Given the description of an element on the screen output the (x, y) to click on. 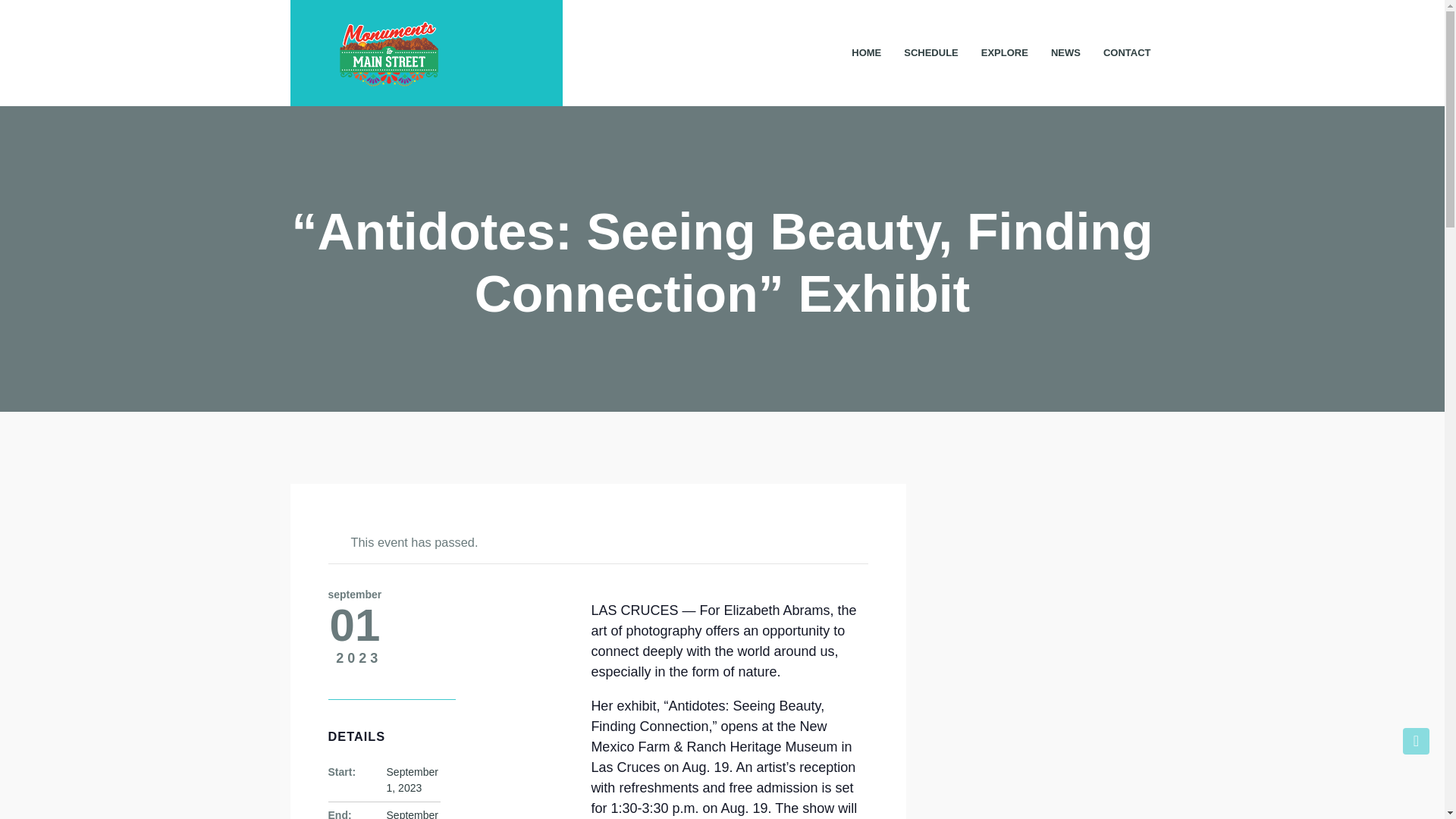
SCHEDULE (931, 52)
HOME (866, 52)
NEWS (1065, 52)
2023-09-30 (412, 814)
EXPLORE (1004, 52)
CONTACT (1127, 52)
2023-09-01 (412, 779)
